Given the description of an element on the screen output the (x, y) to click on. 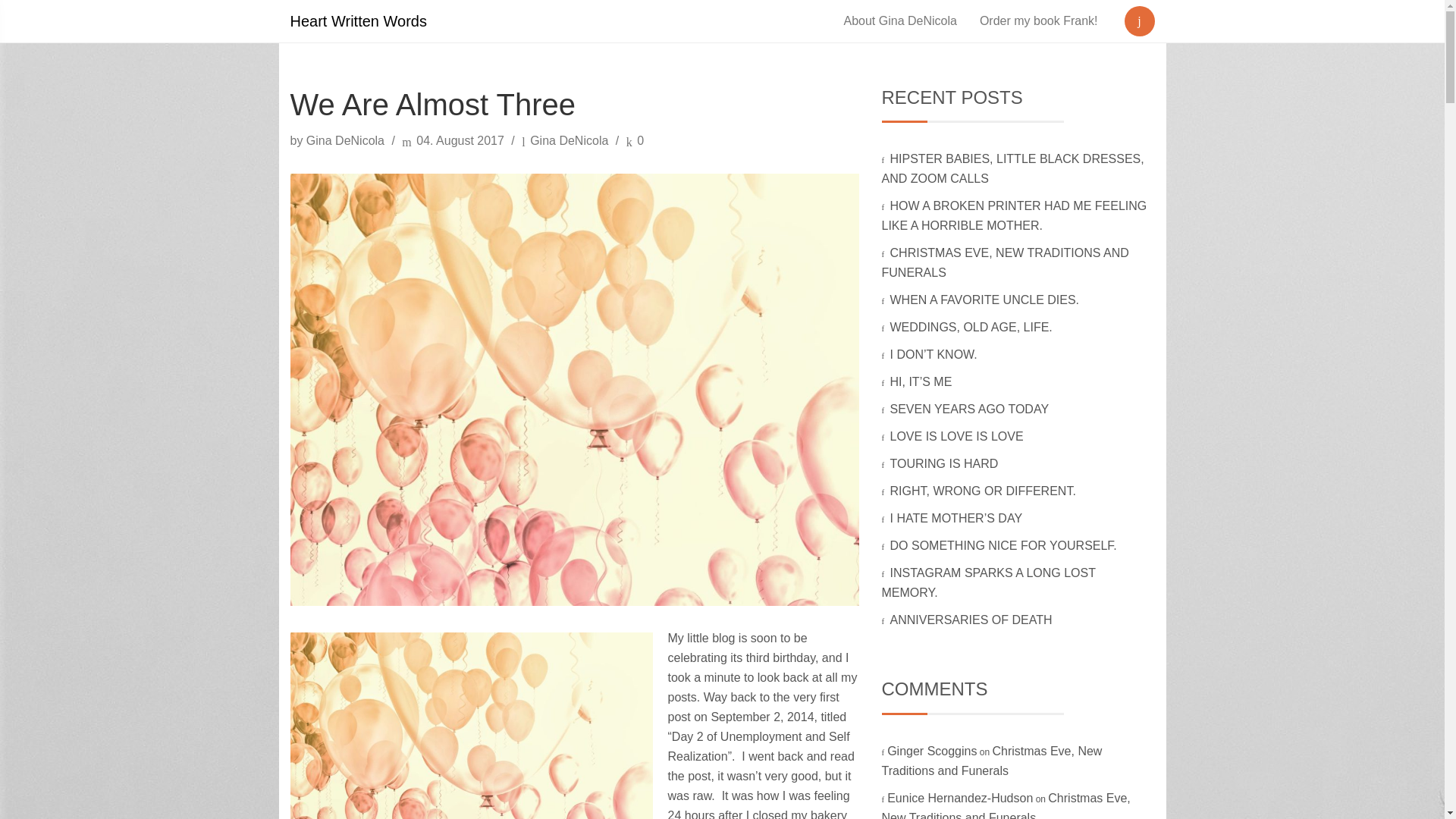
WEDDINGS, OLD AGE, LIFE. (971, 327)
Christmas Eve, New Traditions and Funerals (1004, 805)
SEVEN YEARS AGO TODAY (970, 408)
HOW A BROKEN PRINTER HAD ME FEELING LIKE A HORRIBLE MOTHER. (1013, 215)
TOURING IS HARD (945, 463)
Heart Written Words (358, 21)
by Gina DeNicola (338, 140)
INSTAGRAM SPARKS A LONG LOST MEMORY. (987, 582)
Order my book Frank! (1038, 21)
DO SOMETHING NICE FOR YOURSELF. (1004, 545)
Christmas Eve, New Traditions and Funerals (991, 760)
Gina DeNicola (568, 140)
About Gina DeNicola (899, 21)
LOVE IS LOVE IS LOVE (957, 436)
WHEN A FAVORITE UNCLE DIES. (985, 299)
